Given the description of an element on the screen output the (x, y) to click on. 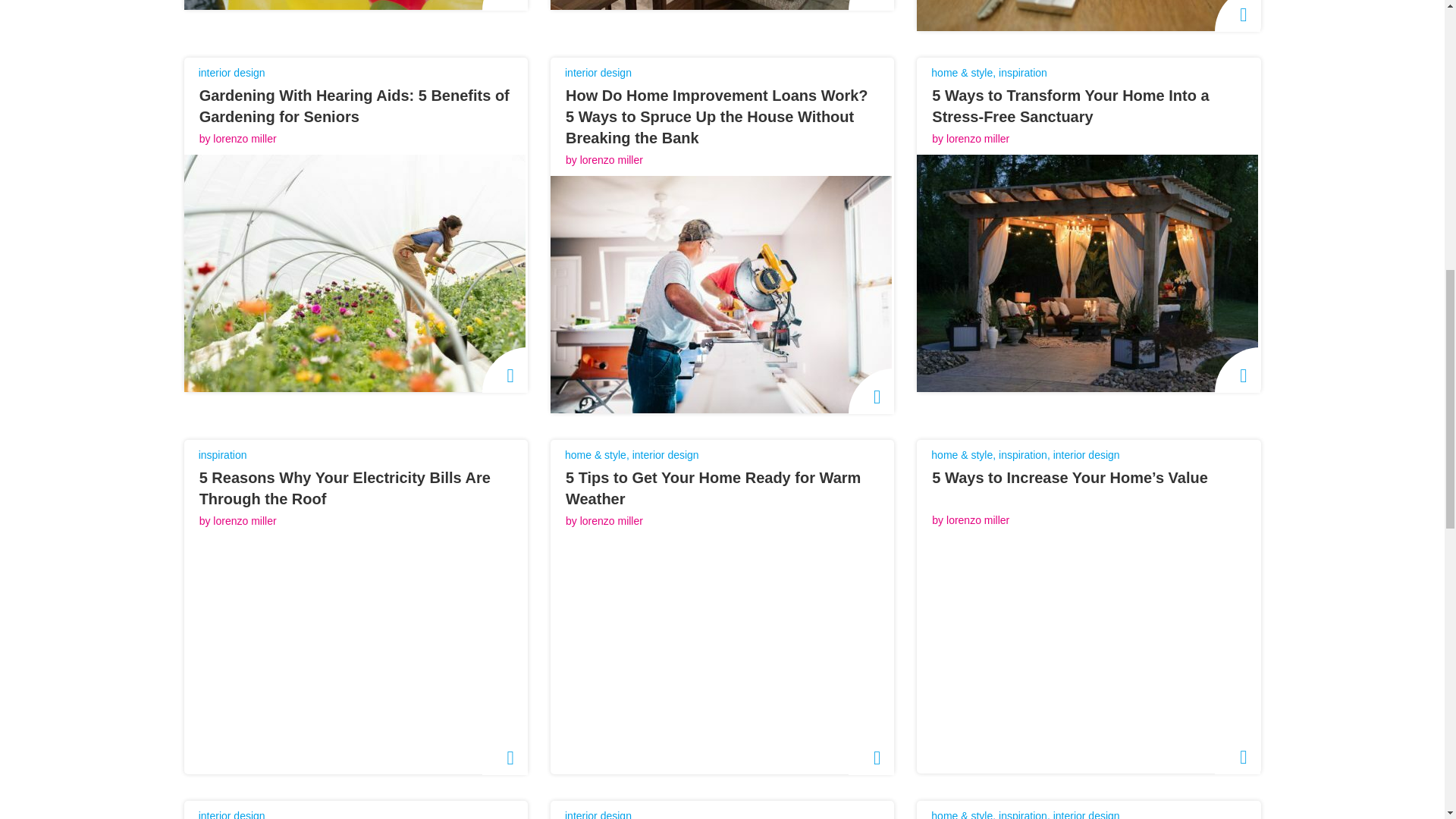
by lorenzo miller (596, 160)
interior design (597, 72)
interior design (231, 72)
by lorenzo miller (230, 139)
